Given the description of an element on the screen output the (x, y) to click on. 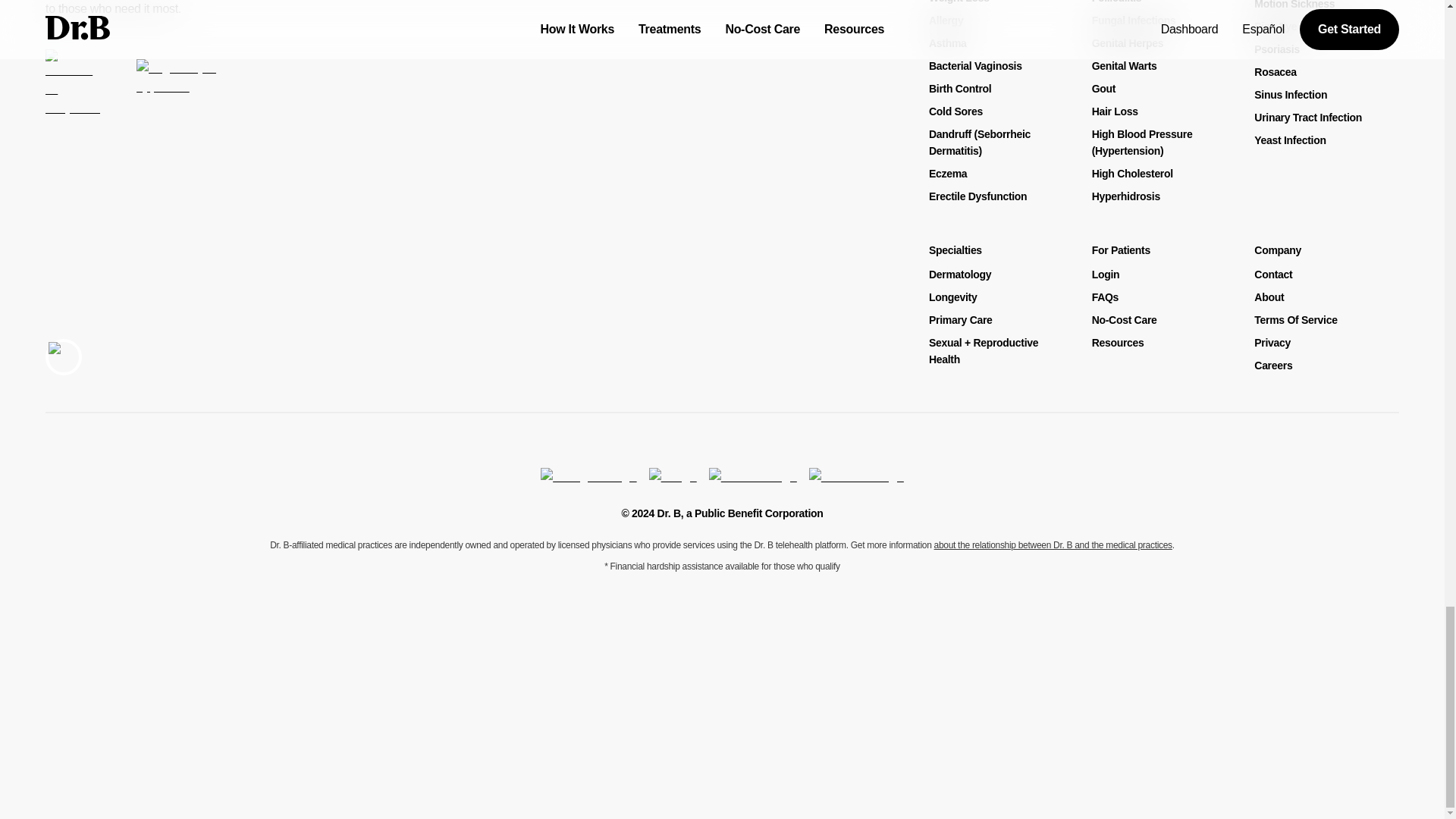
Instagram (588, 476)
Weight Loss (959, 2)
Allergy (945, 20)
Verify LegitScript Approval (178, 95)
LinkedIn (752, 476)
Facebook (856, 476)
Open accessiBe: accessibility options, statement and help (63, 357)
